Given the description of an element on the screen output the (x, y) to click on. 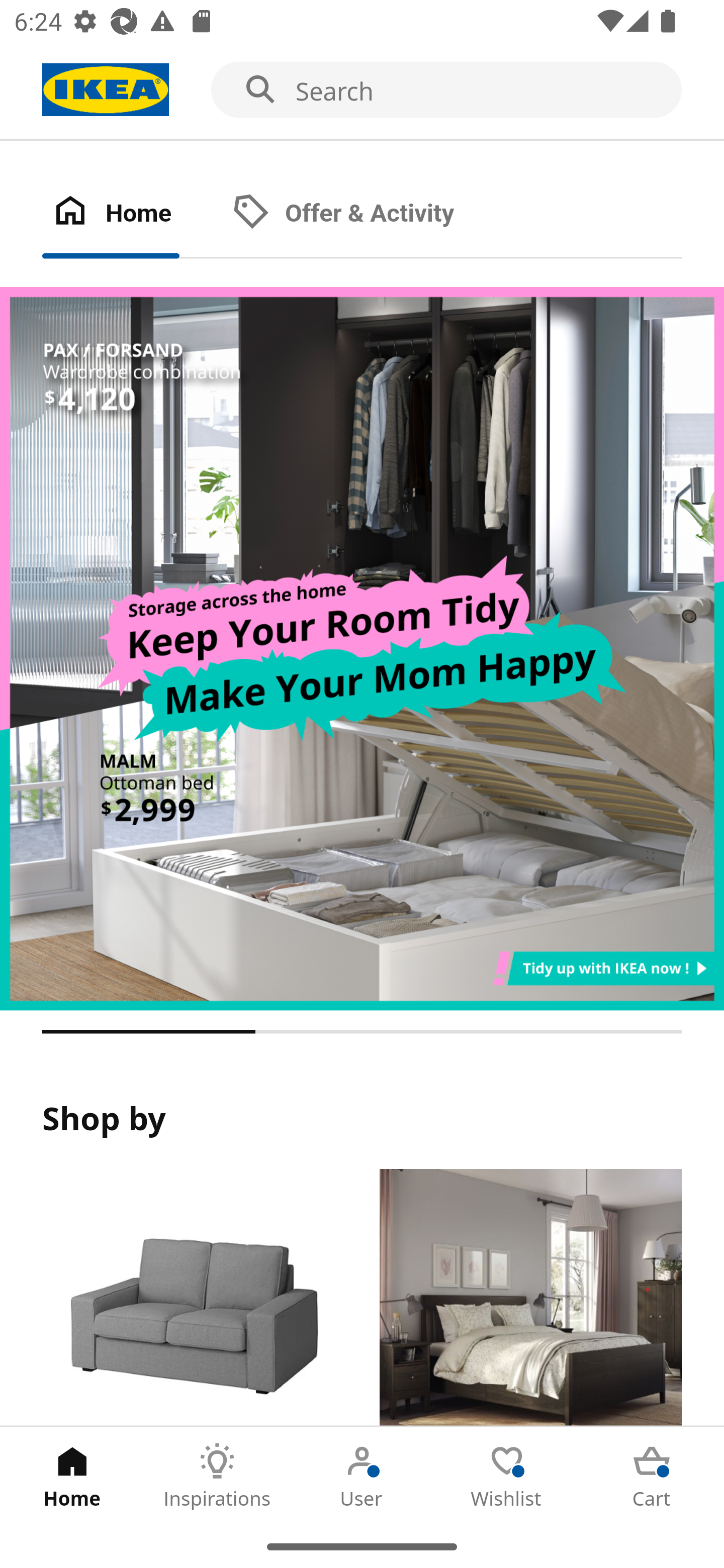
Search (361, 90)
Home
Tab 1 of 2 (131, 213)
Offer & Activity
Tab 2 of 2 (363, 213)
Products (192, 1297)
Rooms (530, 1297)
Home
Tab 1 of 5 (72, 1476)
Inspirations
Tab 2 of 5 (216, 1476)
User
Tab 3 of 5 (361, 1476)
Wishlist
Tab 4 of 5 (506, 1476)
Cart
Tab 5 of 5 (651, 1476)
